Given the description of an element on the screen output the (x, y) to click on. 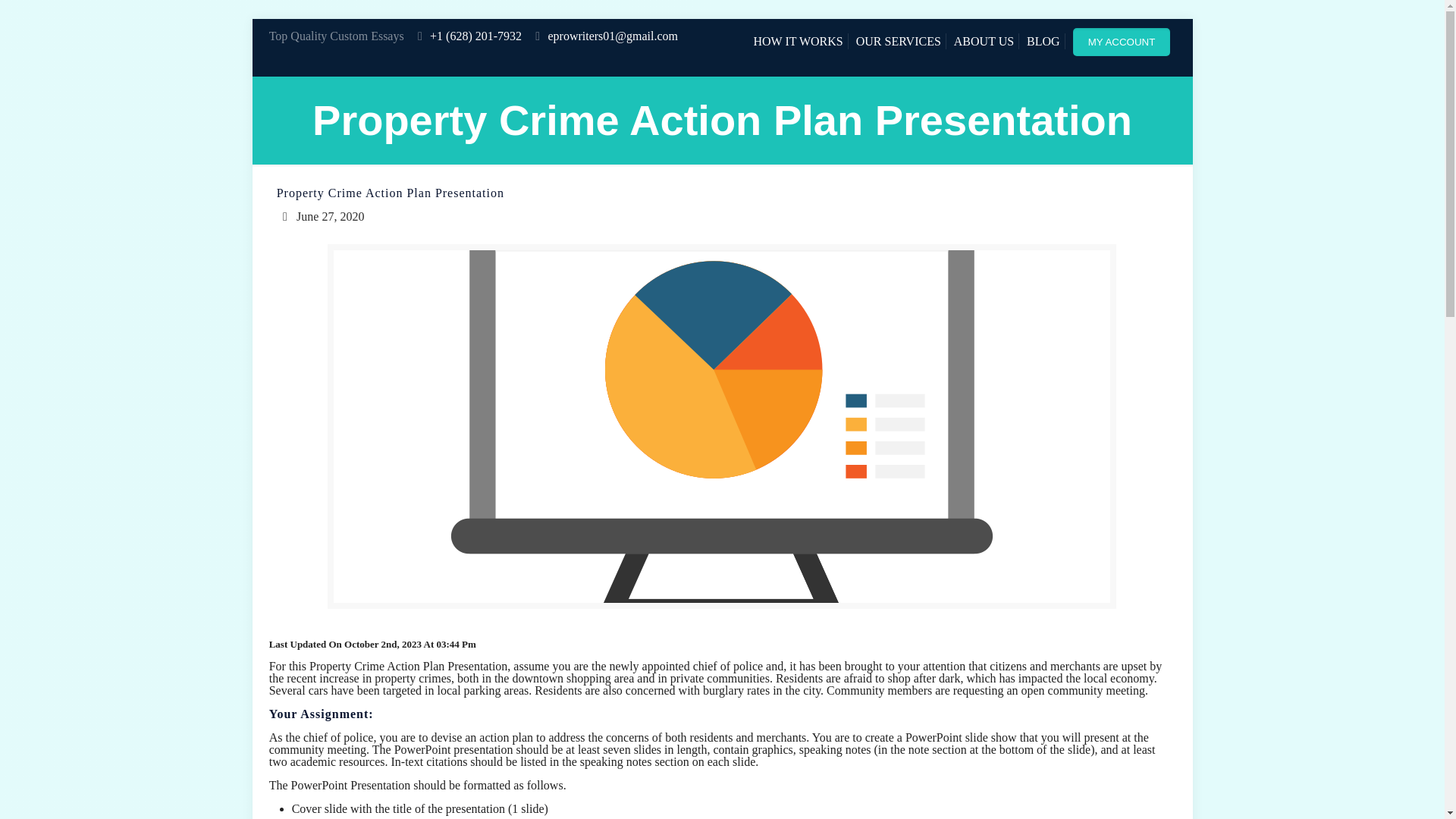
ABOUT US (983, 41)
BLOG (1042, 41)
OUR SERVICES (898, 41)
MY ACCOUNT (1121, 41)
HOW IT WORKS (798, 41)
MY ACCOUNT (1124, 41)
